Given the description of an element on the screen output the (x, y) to click on. 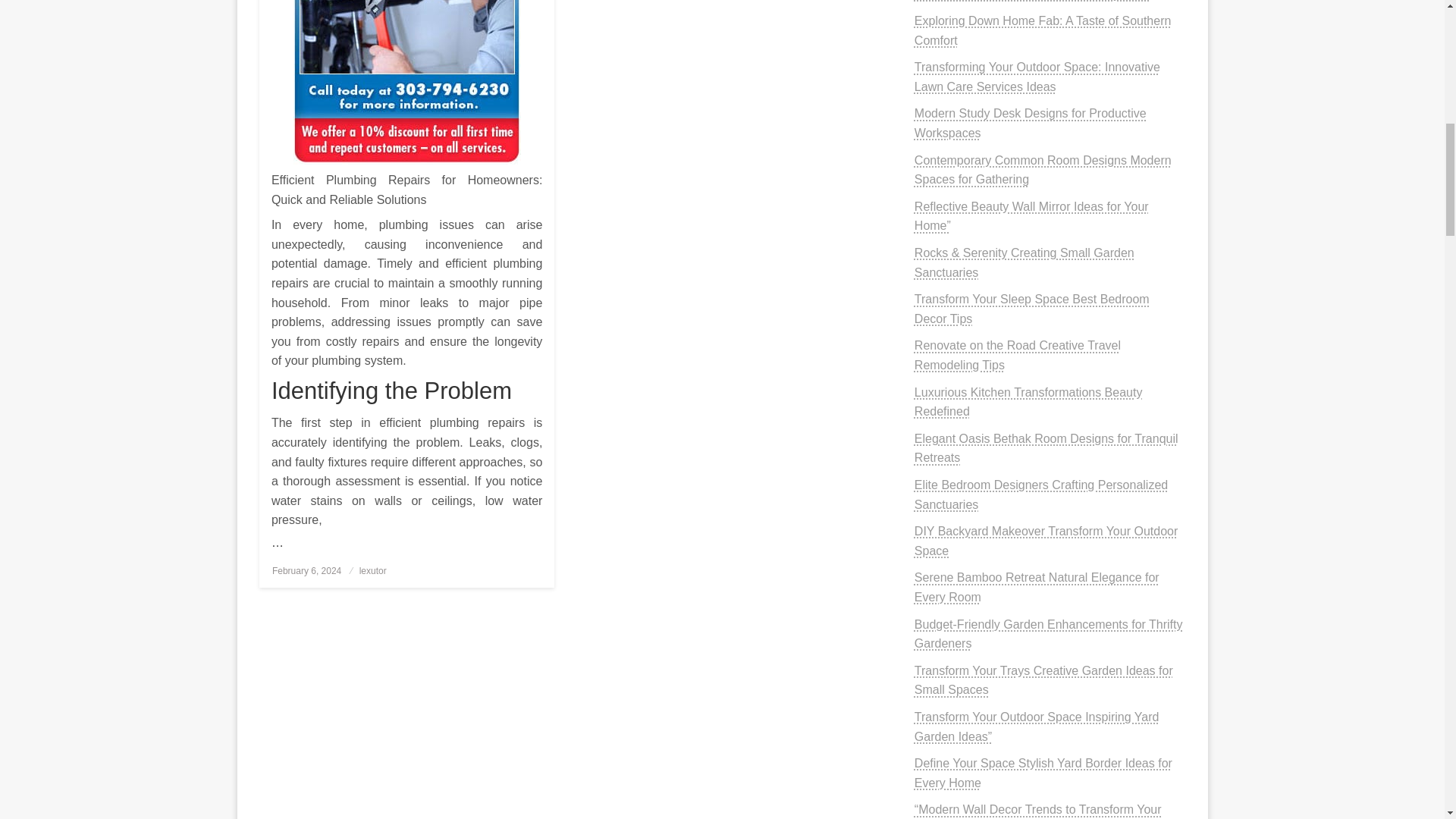
lexutor (373, 570)
February 6, 2024 (306, 570)
lexutor (373, 570)
